Given the description of an element on the screen output the (x, y) to click on. 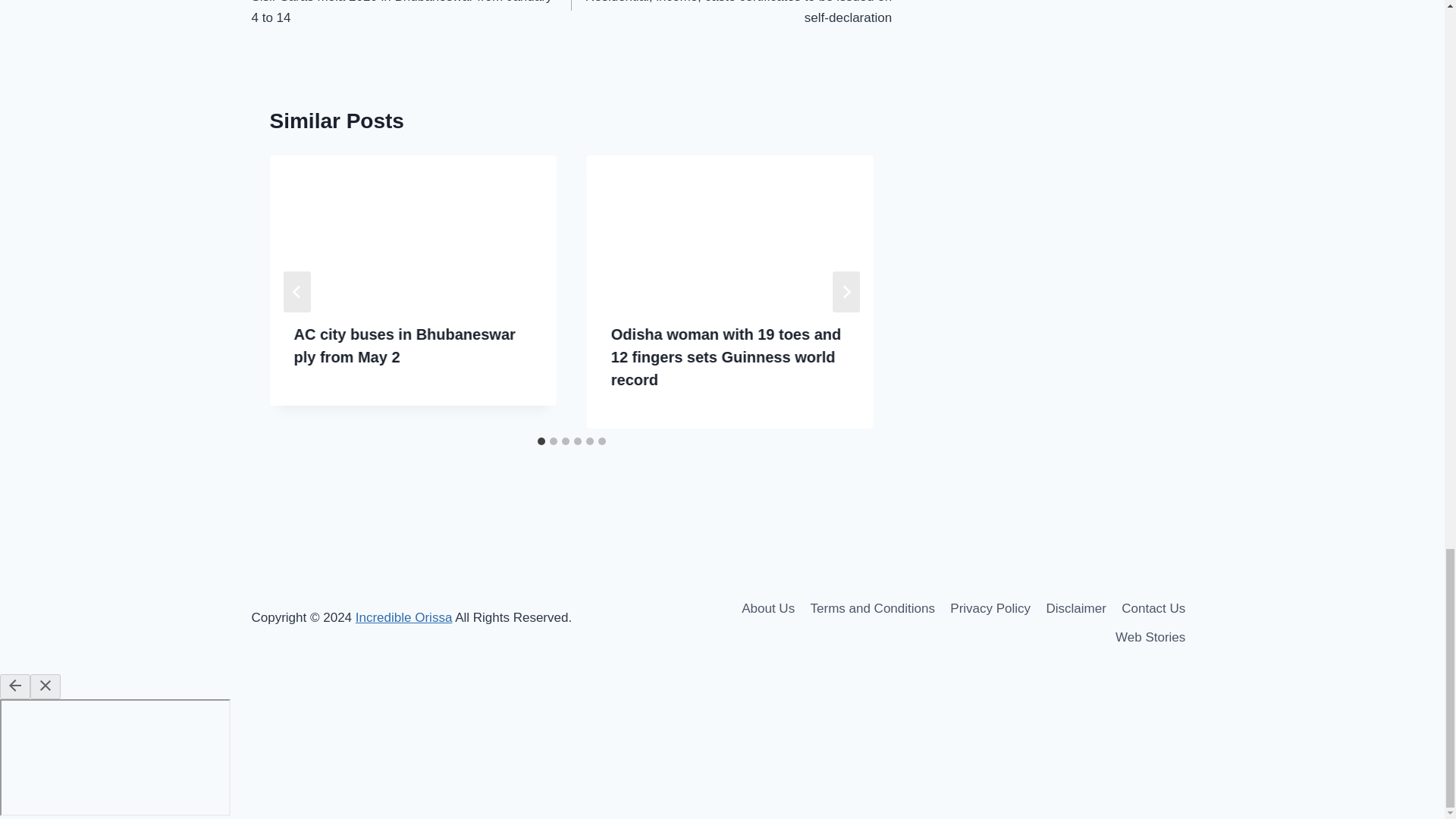
AC city buses in Bhubaneswar ply from May 2 (404, 345)
